Given the description of an element on the screen output the (x, y) to click on. 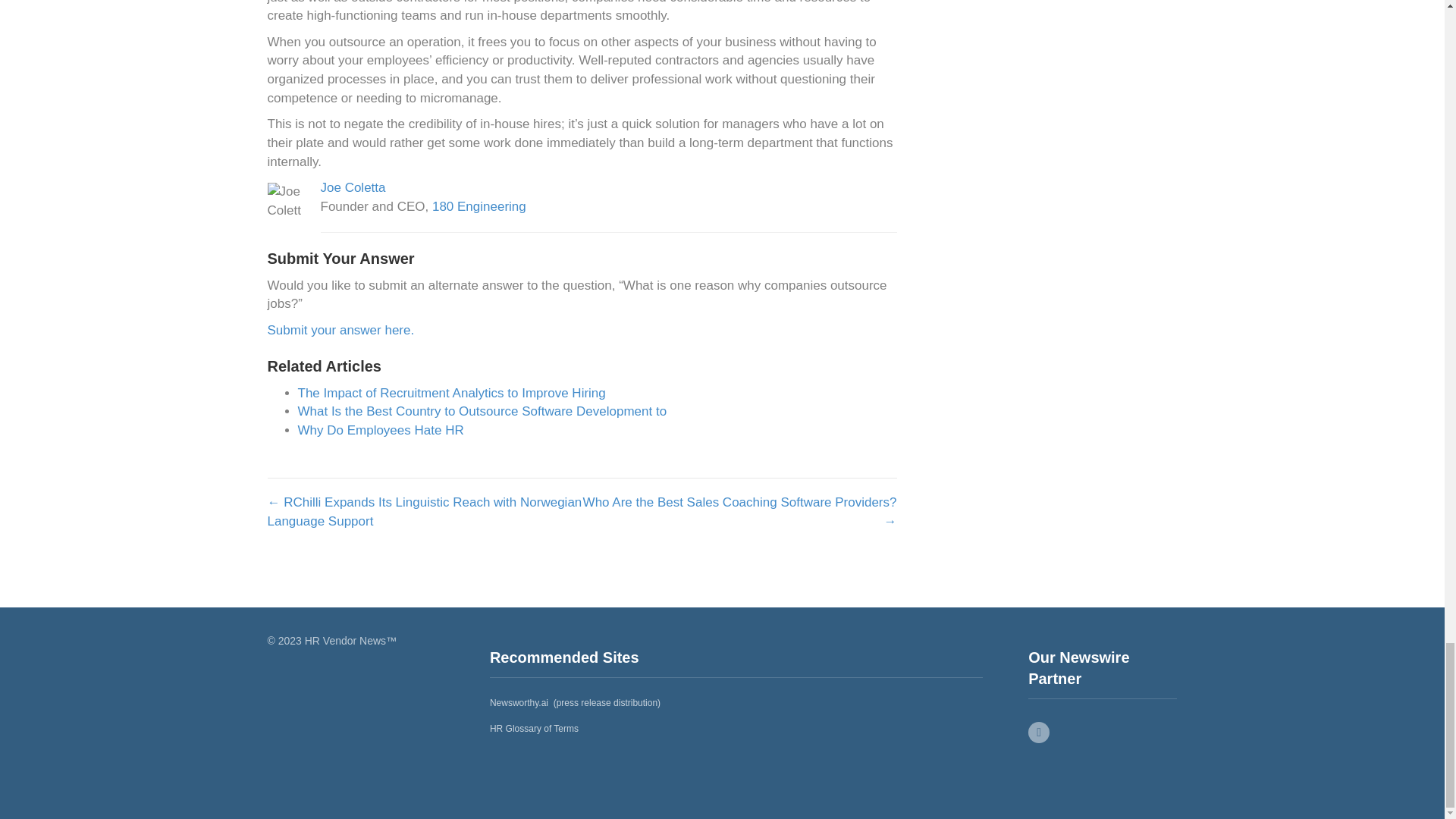
The Impact of Recruitment Analytics to Improve Hiring (451, 392)
Submit your answer here. (339, 329)
Why Do Employees Hate HR (380, 430)
Joe Coletta (352, 187)
180 Engineering (478, 206)
